Given the description of an element on the screen output the (x, y) to click on. 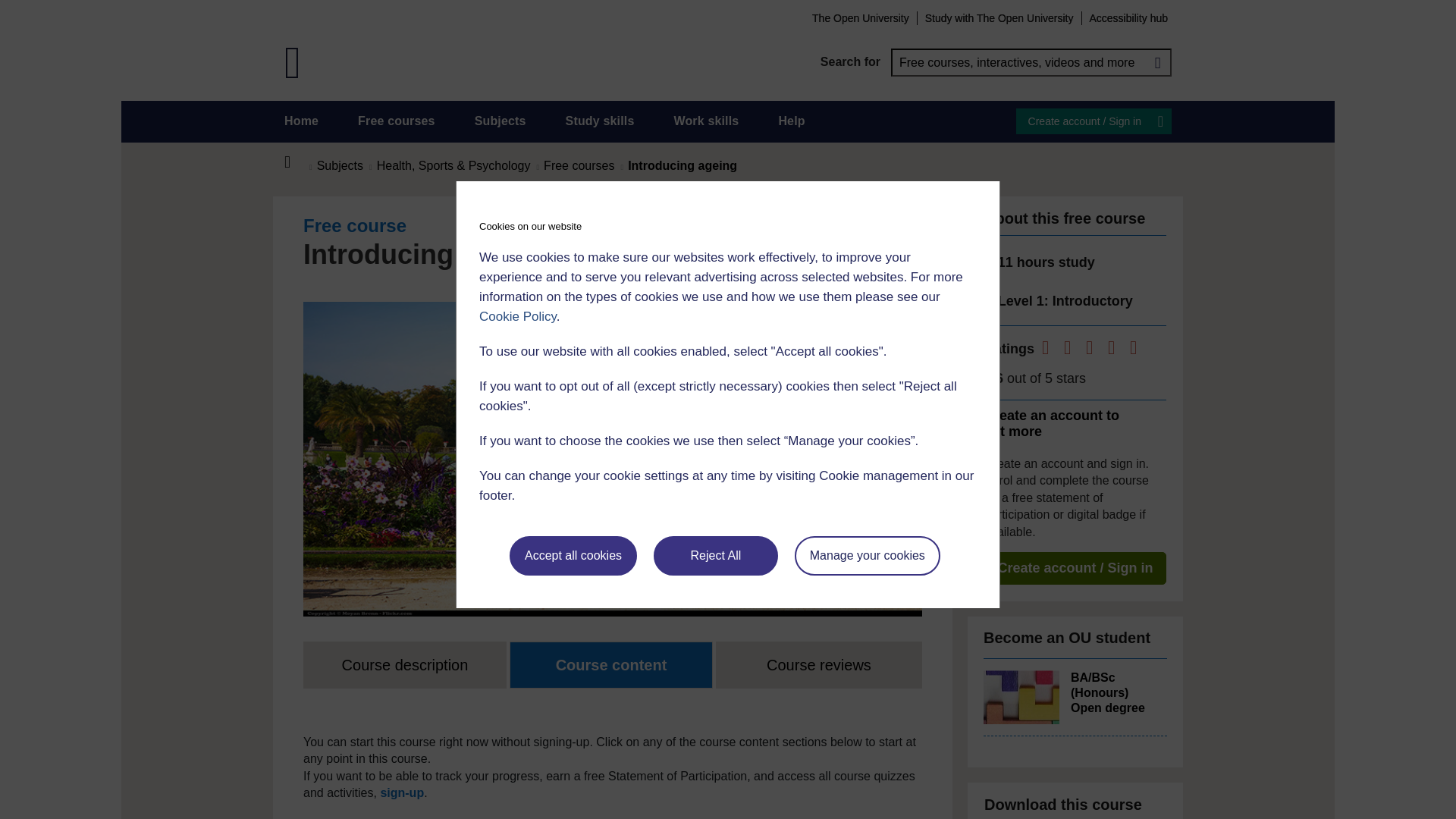
Subjects (499, 120)
Help (791, 120)
Study with The Open University (999, 17)
Work skills (705, 120)
Home (300, 120)
Home (295, 162)
Reject All (715, 555)
Course content (611, 664)
Search (1157, 62)
The Open University (860, 17)
Free courses (396, 120)
Accessibility hub (1129, 17)
Course reviews (818, 664)
Study skills (600, 120)
